Given the description of an element on the screen output the (x, y) to click on. 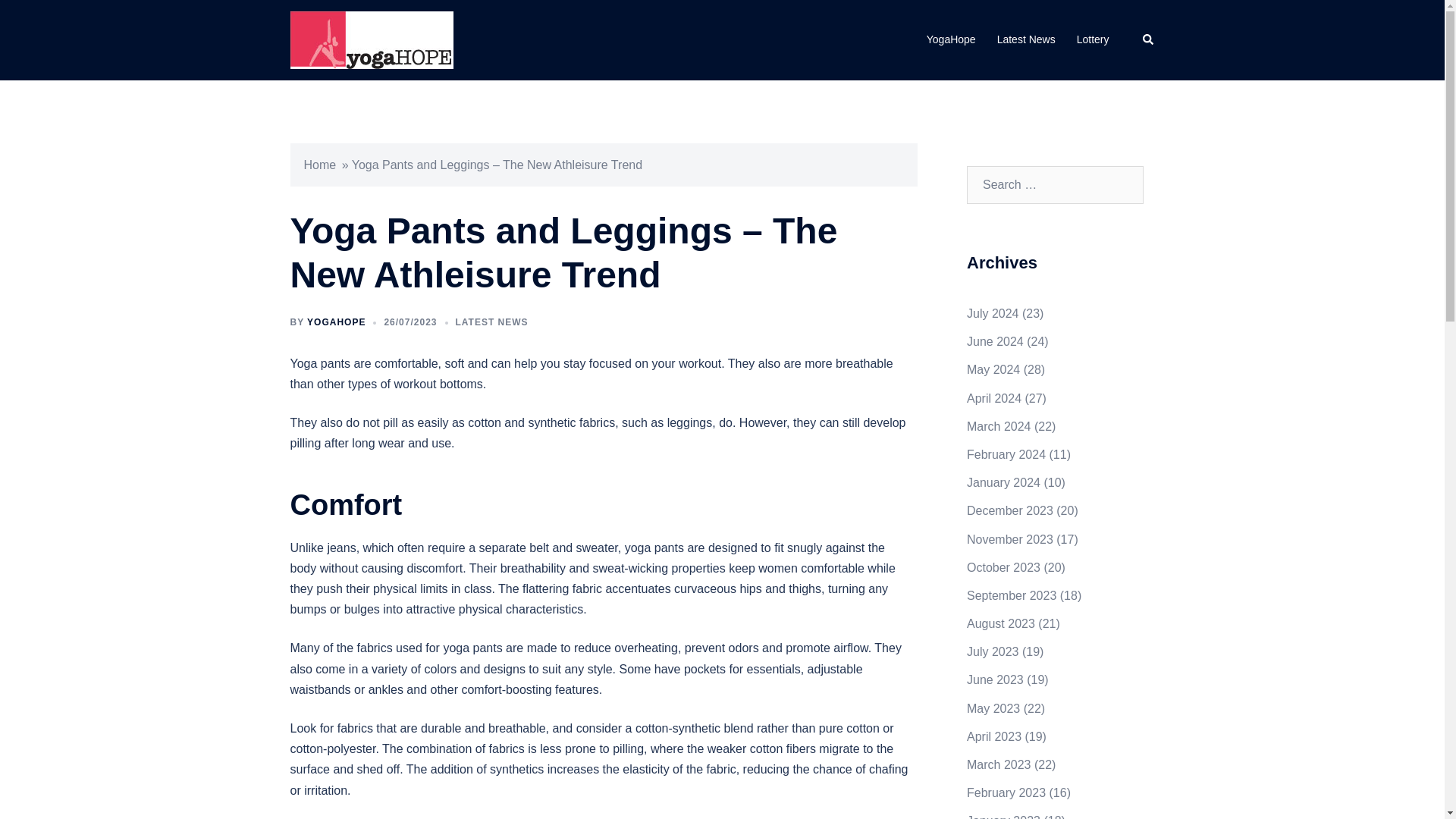
February 2024 (1005, 454)
Home (319, 164)
Yogahope.org (370, 38)
August 2023 (1000, 623)
April 2024 (994, 398)
May 2023 (993, 707)
April 2023 (994, 736)
June 2023 (994, 679)
Search (1147, 39)
December 2023 (1009, 510)
LATEST NEWS (490, 321)
YOGAHOPE (336, 321)
Latest News (1026, 40)
May 2024 (993, 369)
January 2024 (1003, 481)
